Given the description of an element on the screen output the (x, y) to click on. 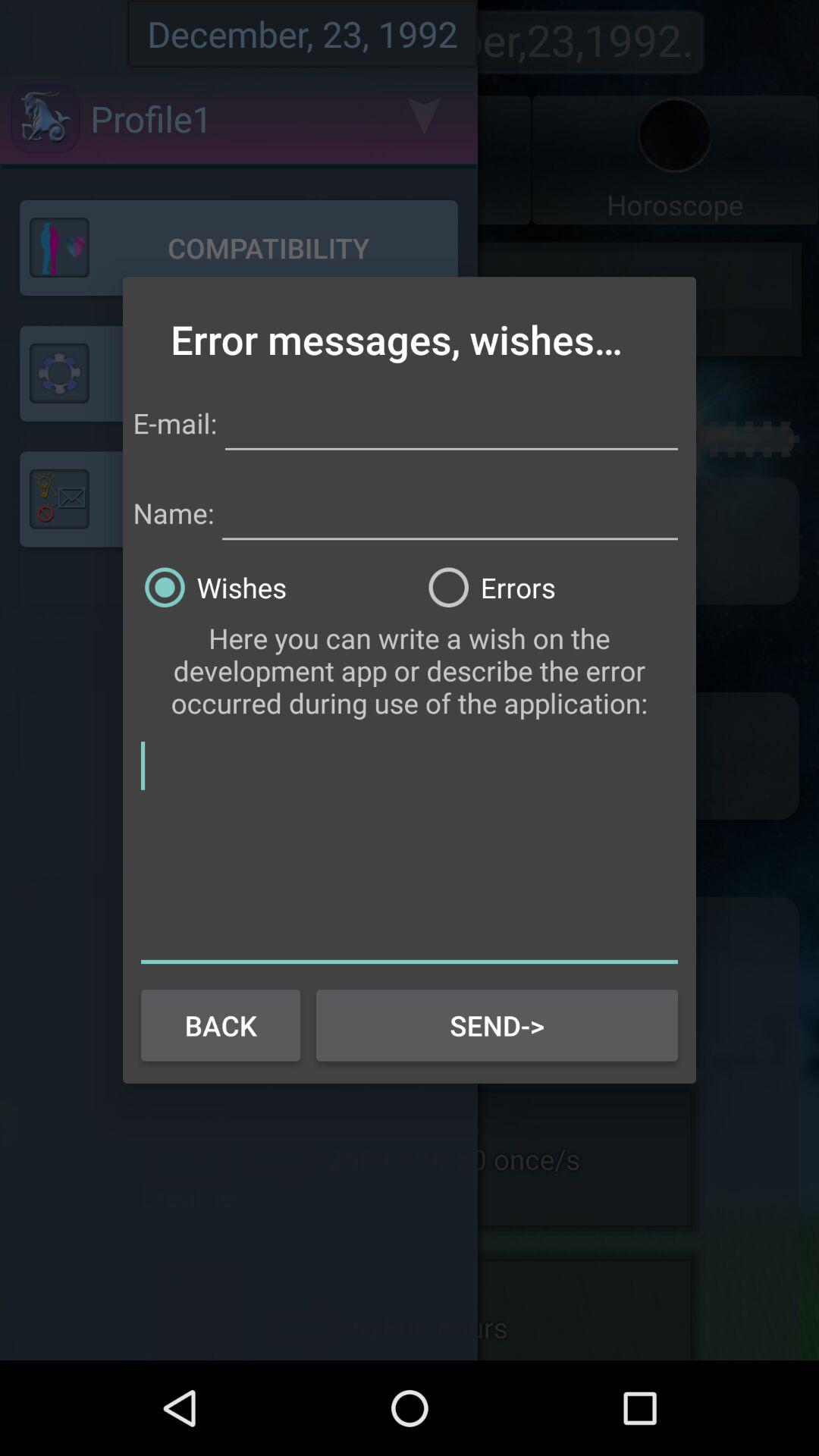
tap send-> at the bottom (496, 1025)
